Given the description of an element on the screen output the (x, y) to click on. 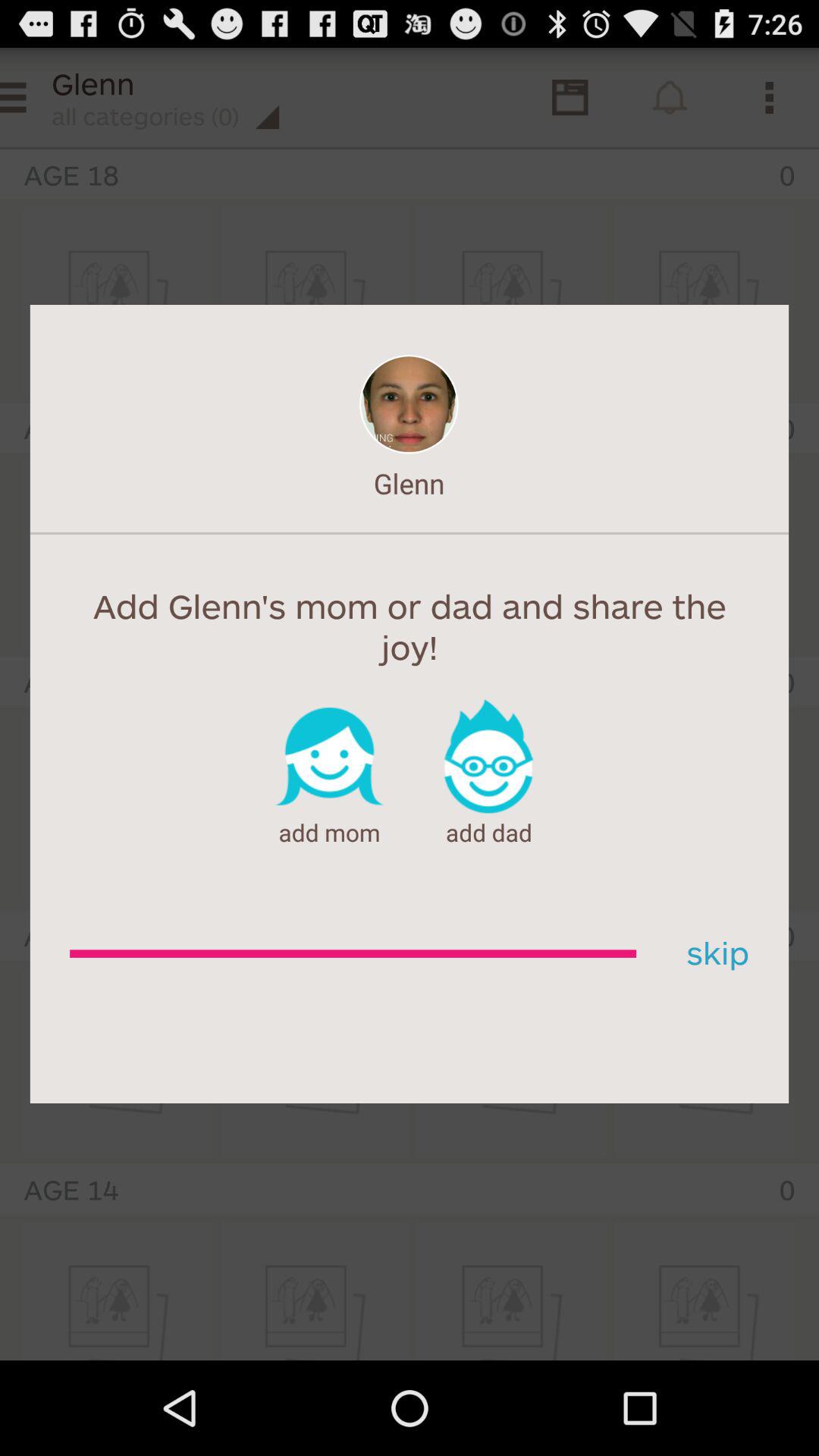
choose skip item (712, 953)
